Given the description of an element on the screen output the (x, y) to click on. 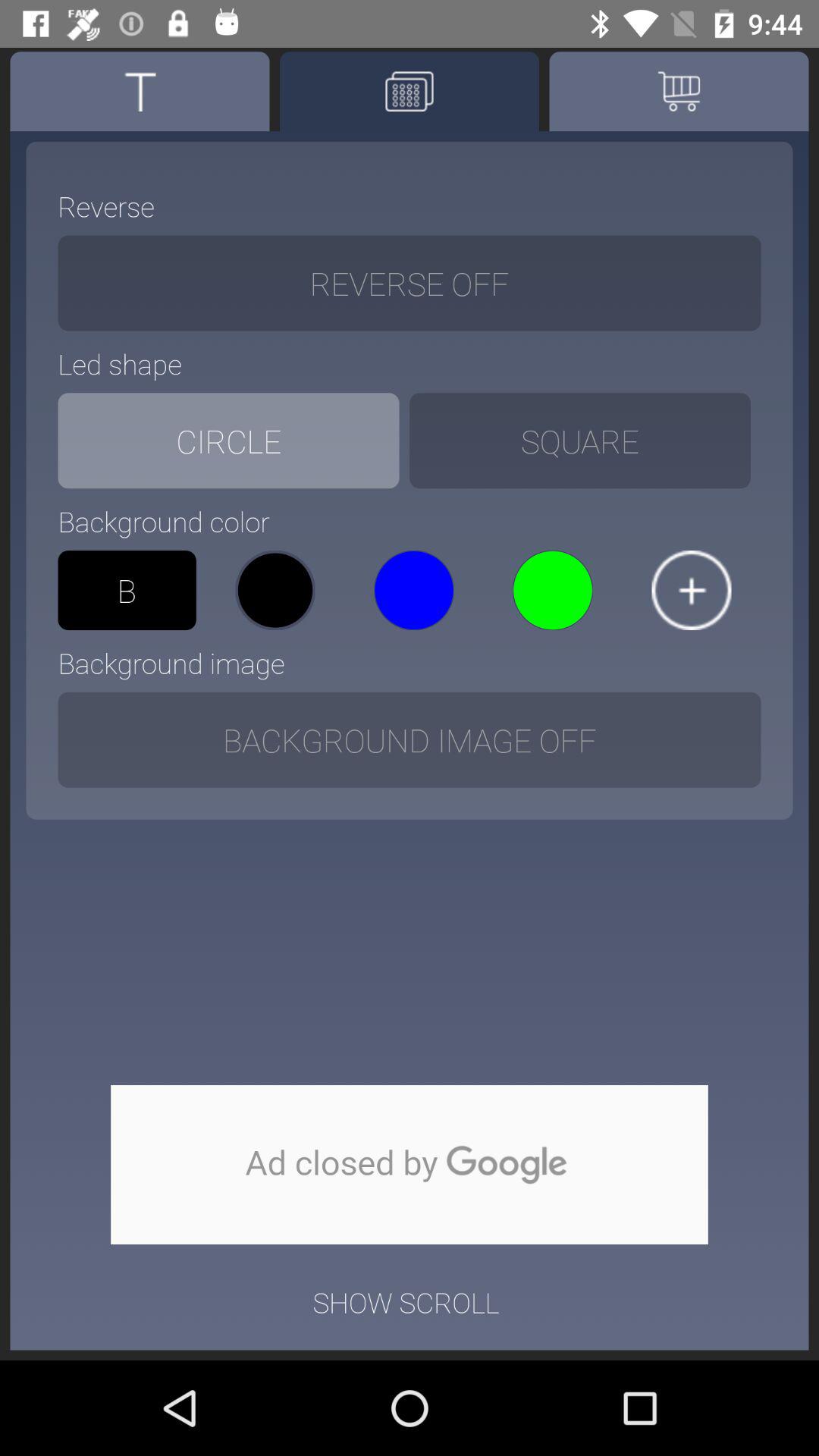
add files (691, 590)
